Given the description of an element on the screen output the (x, y) to click on. 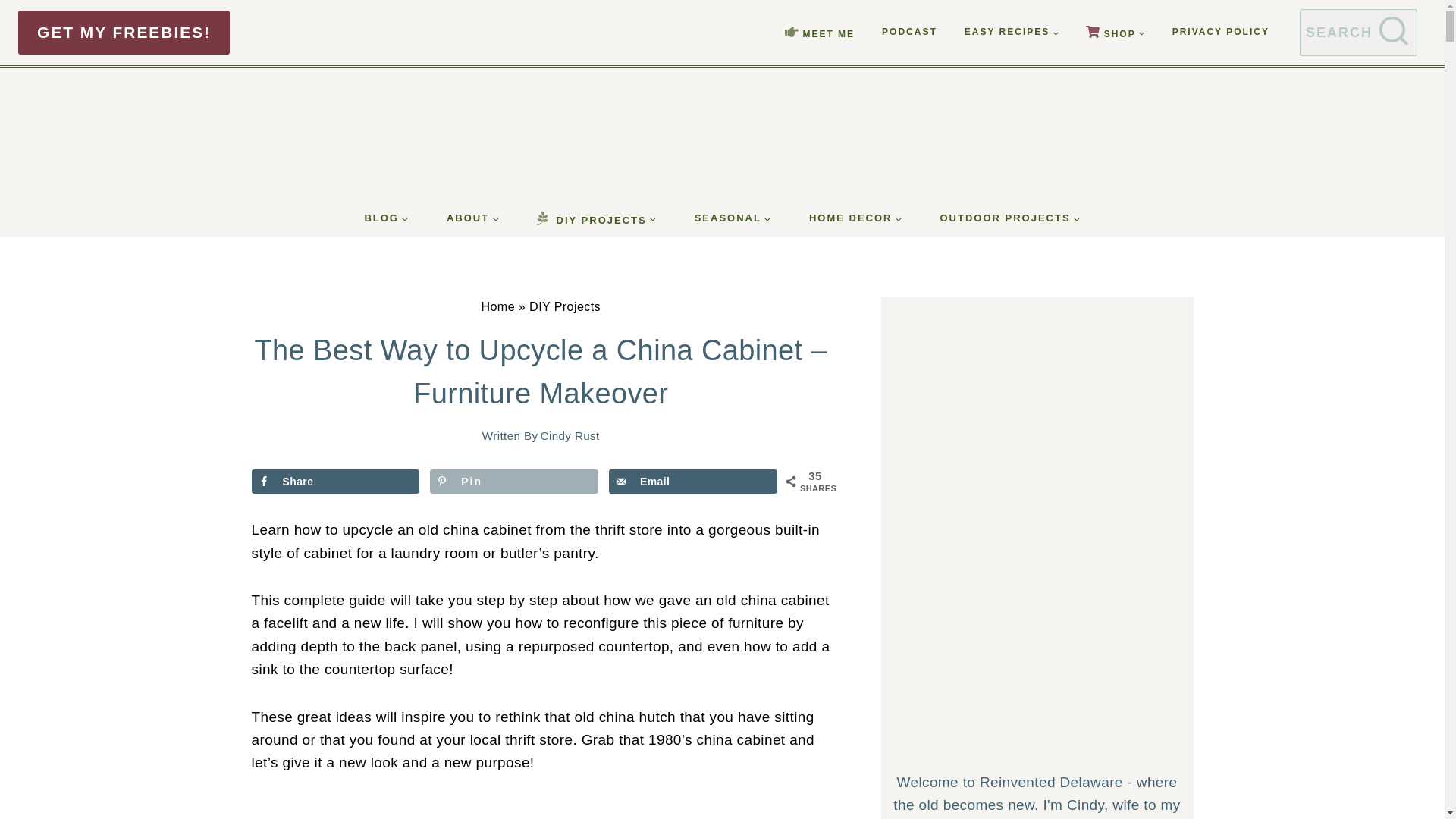
MEET ME (819, 33)
Share on Facebook (335, 481)
BLOG (386, 217)
DIY PROJECTS (596, 218)
PODCAST (908, 31)
ABOUT (473, 217)
Send over email (692, 481)
PRIVACY POLICY (1220, 31)
GET MY FREEBIES! (123, 32)
EASY RECIPES (1010, 31)
